Given the description of an element on the screen output the (x, y) to click on. 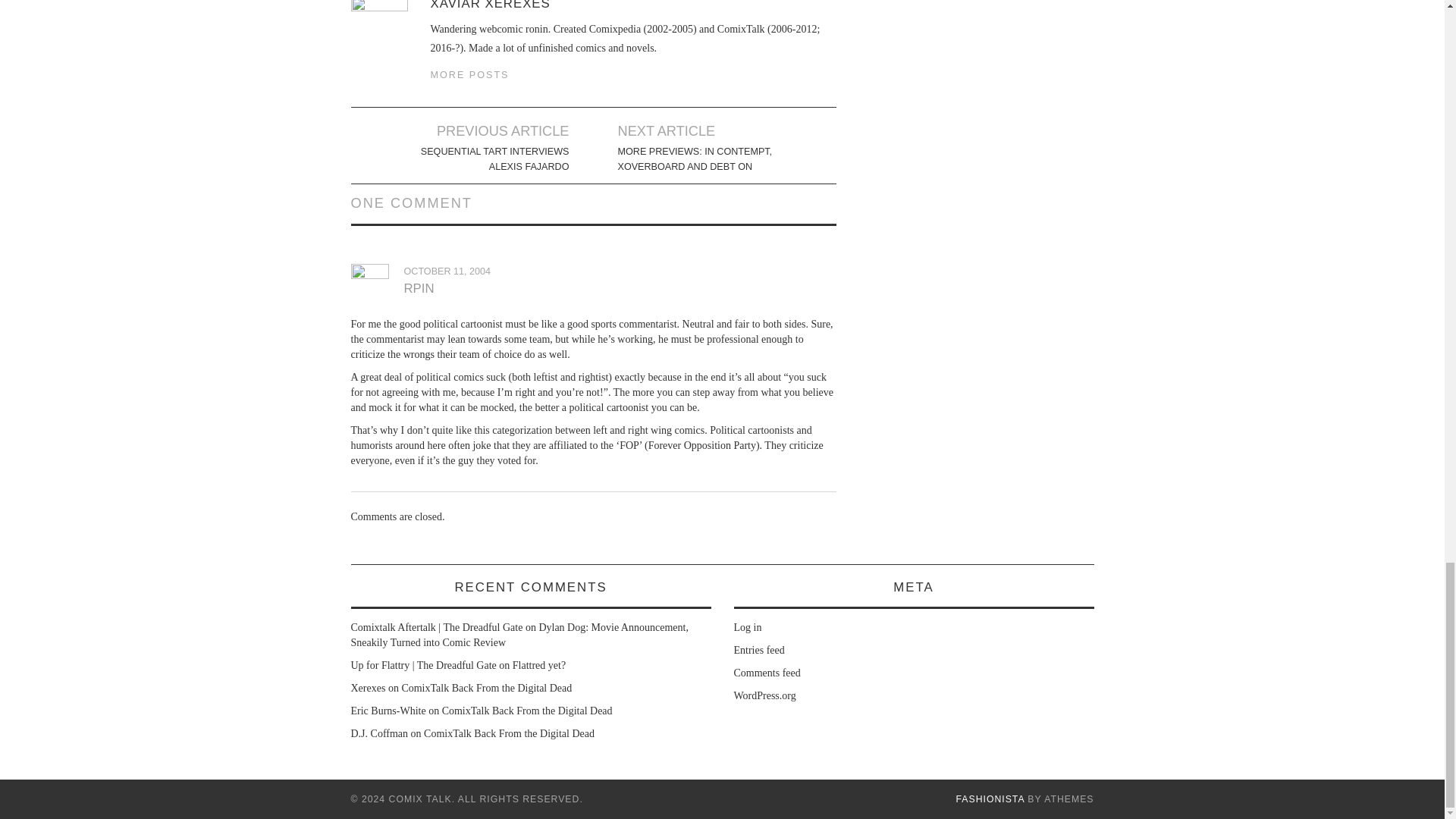
MORE POSTS (469, 74)
MORE PREVIEWS: IN CONTEMPT, XOVERBOARD AND DEBT ON (702, 159)
SEQUENTIAL TART INTERVIEWS ALEXIS FAJARDO (483, 159)
OCTOBER 11, 2004 (446, 271)
